Given the description of an element on the screen output the (x, y) to click on. 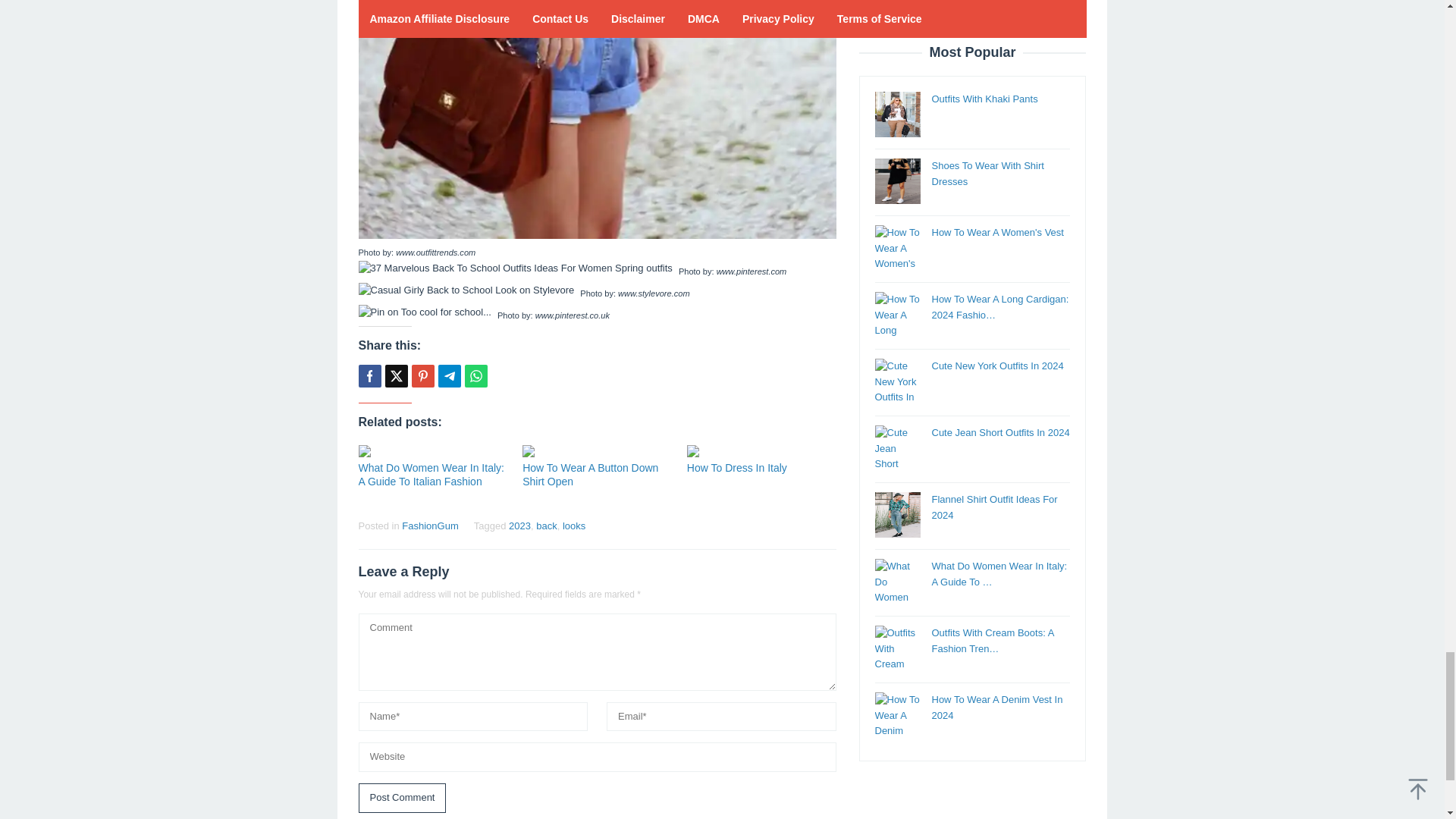
Telegram Share (449, 375)
Share this (369, 375)
What Do Women Wear In Italy: A Guide To Italian Fashion (430, 474)
looks (573, 525)
FashionGum (429, 525)
Permalink to: How To Dress In Italy (737, 467)
How To Dress In Italy (737, 467)
2023 (519, 525)
back (545, 525)
